Given the description of an element on the screen output the (x, y) to click on. 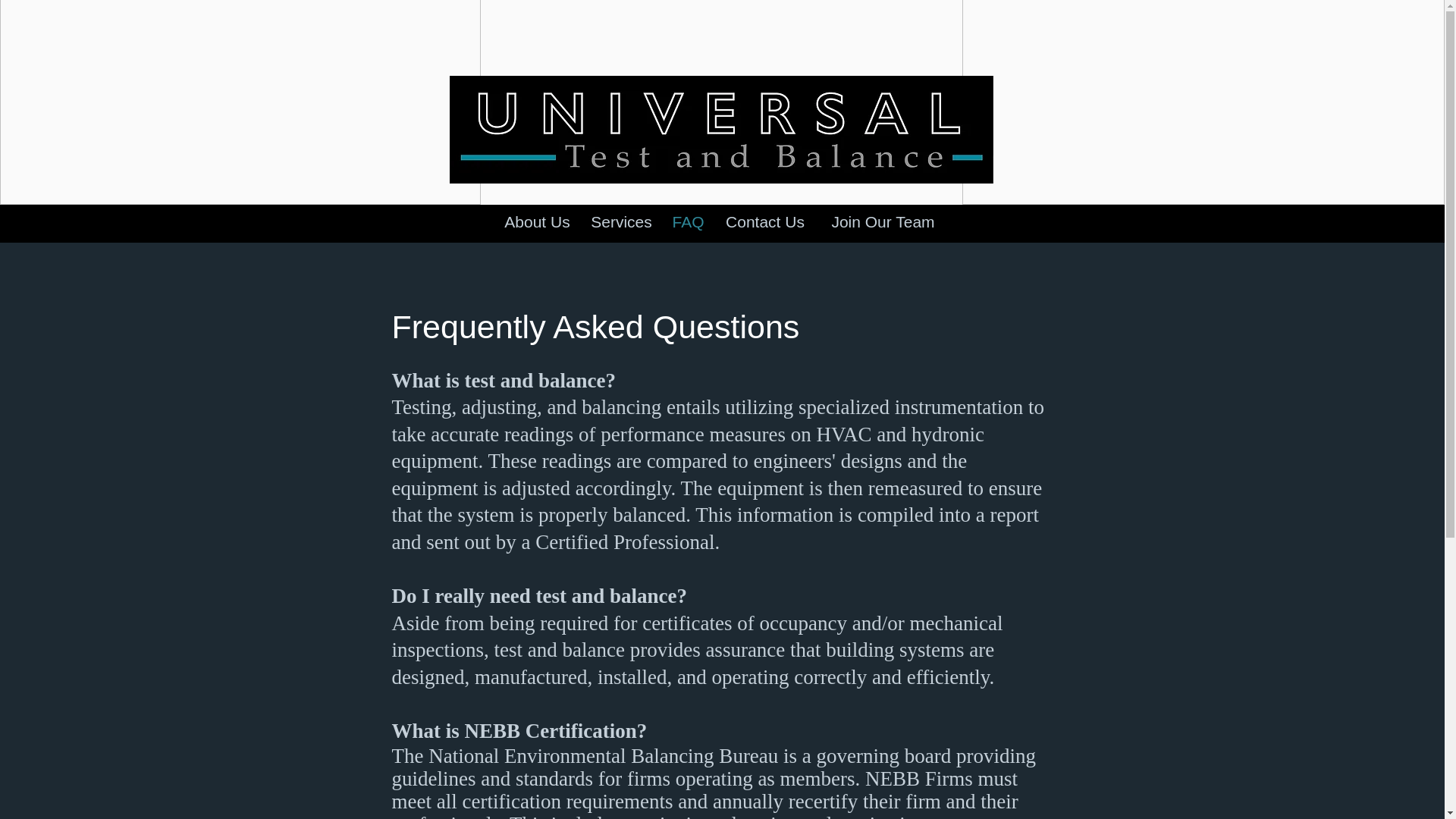
About Us (536, 222)
FAQ (687, 222)
Contact Us (764, 222)
Services (620, 222)
Join Our Team (882, 222)
